Given the description of an element on the screen output the (x, y) to click on. 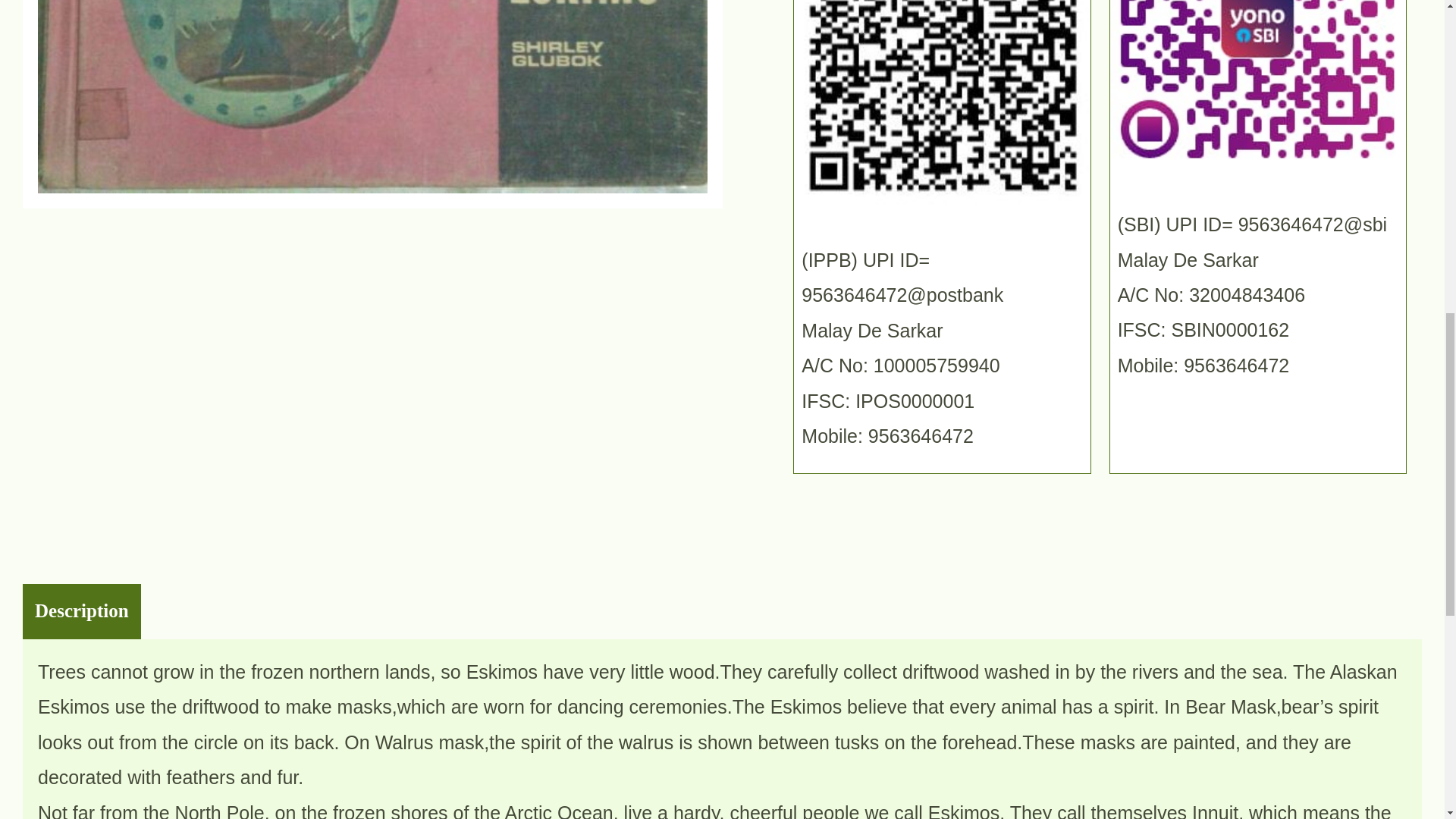
Description (81, 610)
